Given the description of an element on the screen output the (x, y) to click on. 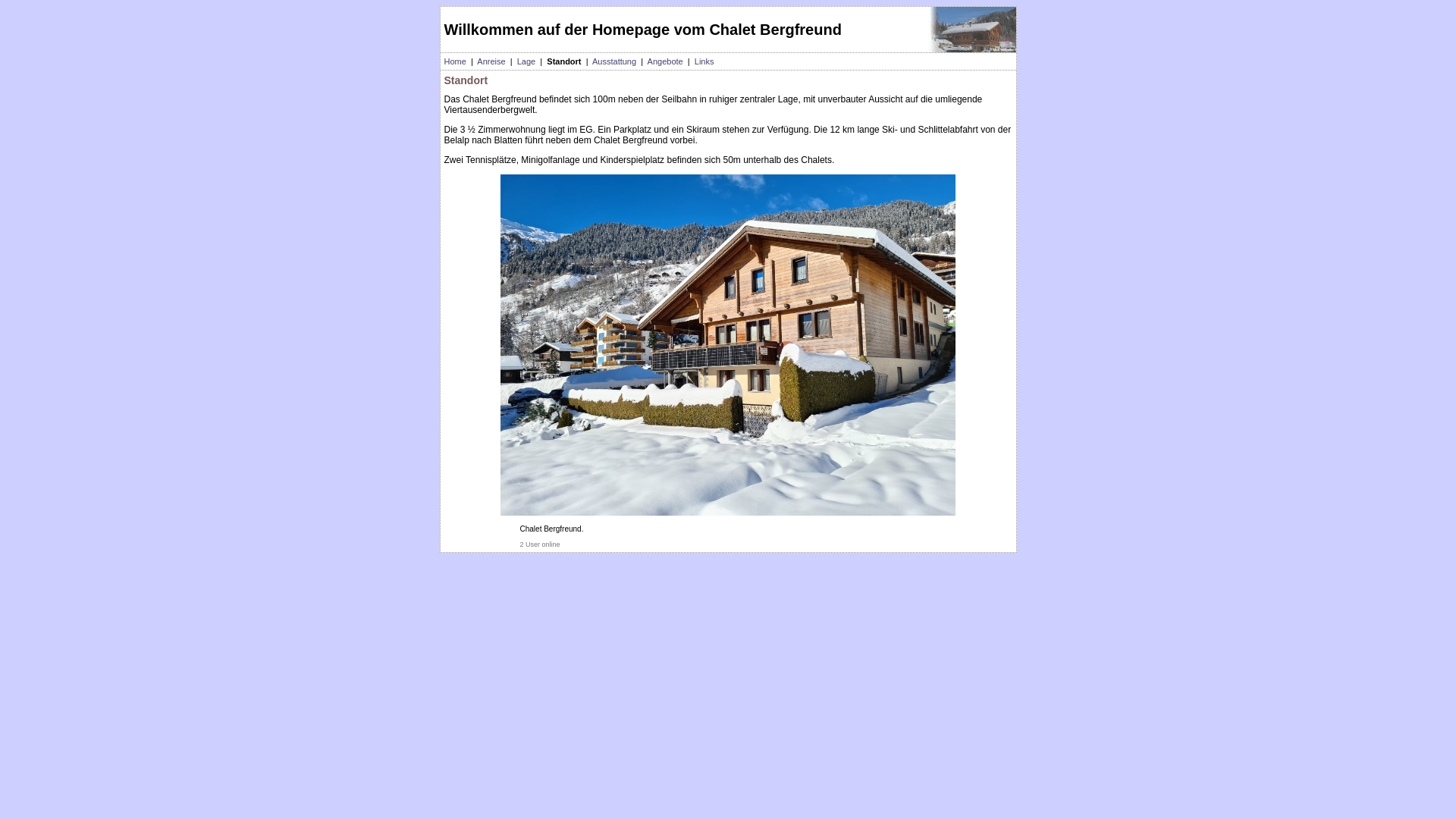
Ausstattung Element type: text (614, 60)
Lage Element type: text (526, 60)
Angebote Element type: text (665, 60)
Anreise Element type: text (490, 60)
Home Element type: text (455, 60)
Links Element type: text (704, 60)
